Given the description of an element on the screen output the (x, y) to click on. 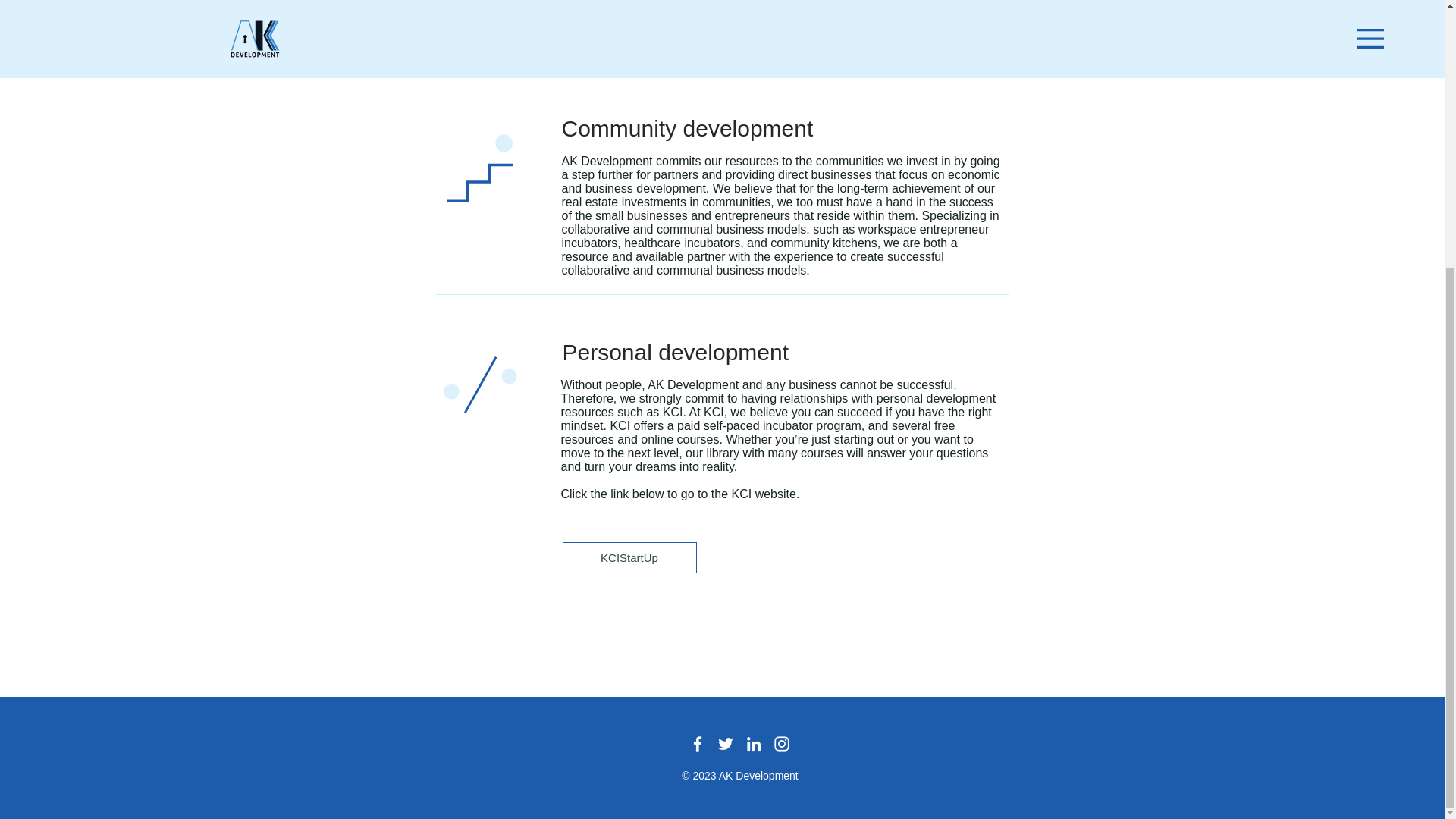
KCIStartUp (629, 557)
